Given the description of an element on the screen output the (x, y) to click on. 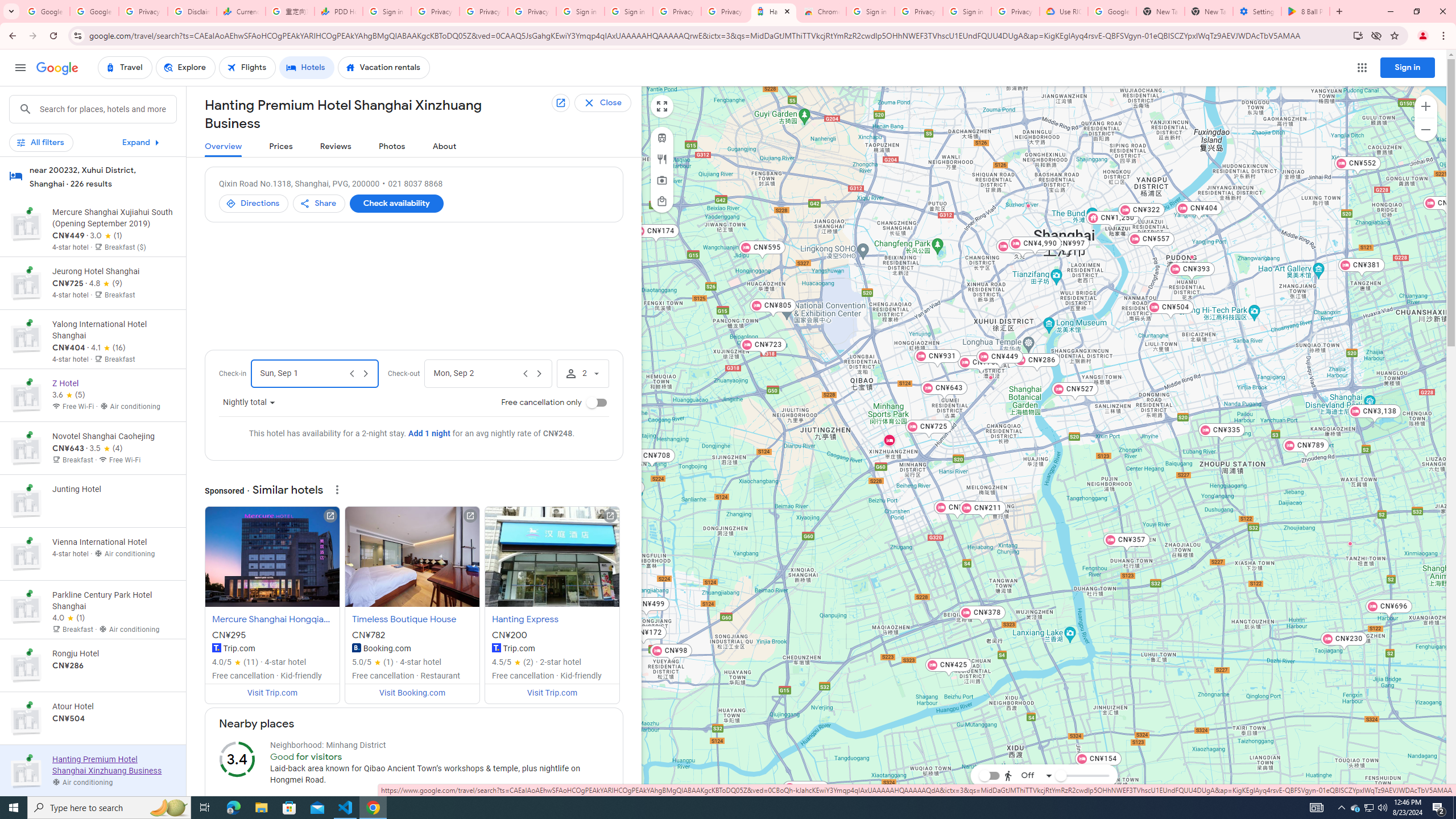
Sign in - Google Accounts (387, 11)
4 out of 5 stars from 11 reviews (235, 662)
Booking.com (356, 647)
Directions (253, 203)
3.5 out of 5 stars from 4 reviews (105, 448)
Zoom out map (1425, 128)
Trip.com (496, 647)
Reachability slider (1060, 775)
3.6 out of 5 stars from 5 reviews (68, 395)
5 out of 5 stars from 1 reviews (373, 662)
View prices for Atour Hotel (113, 758)
Areas for shopping (661, 201)
